Given the description of an element on the screen output the (x, y) to click on. 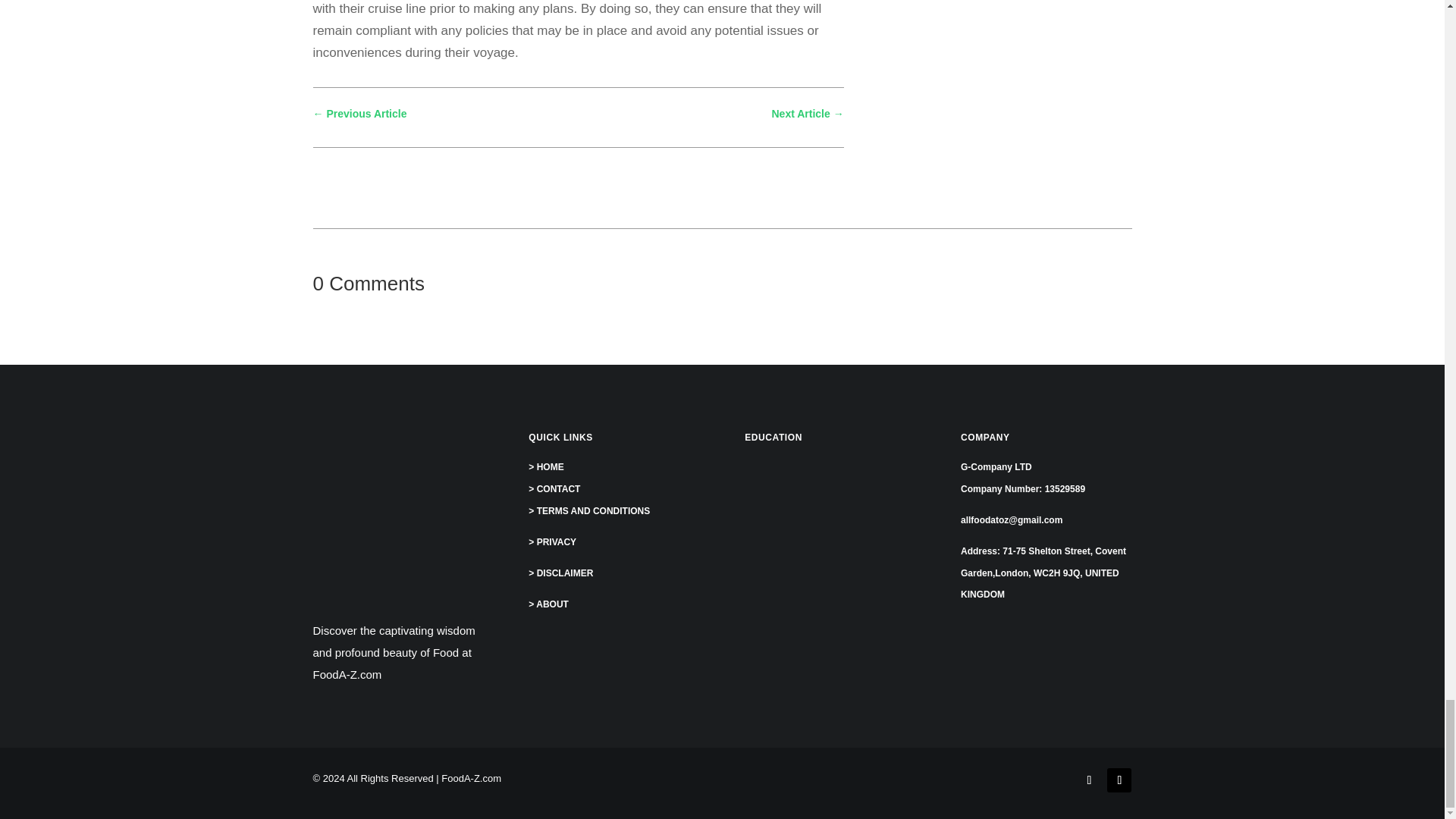
Follow on X (1118, 780)
Follow on Facebook (1088, 780)
